Given the description of an element on the screen output the (x, y) to click on. 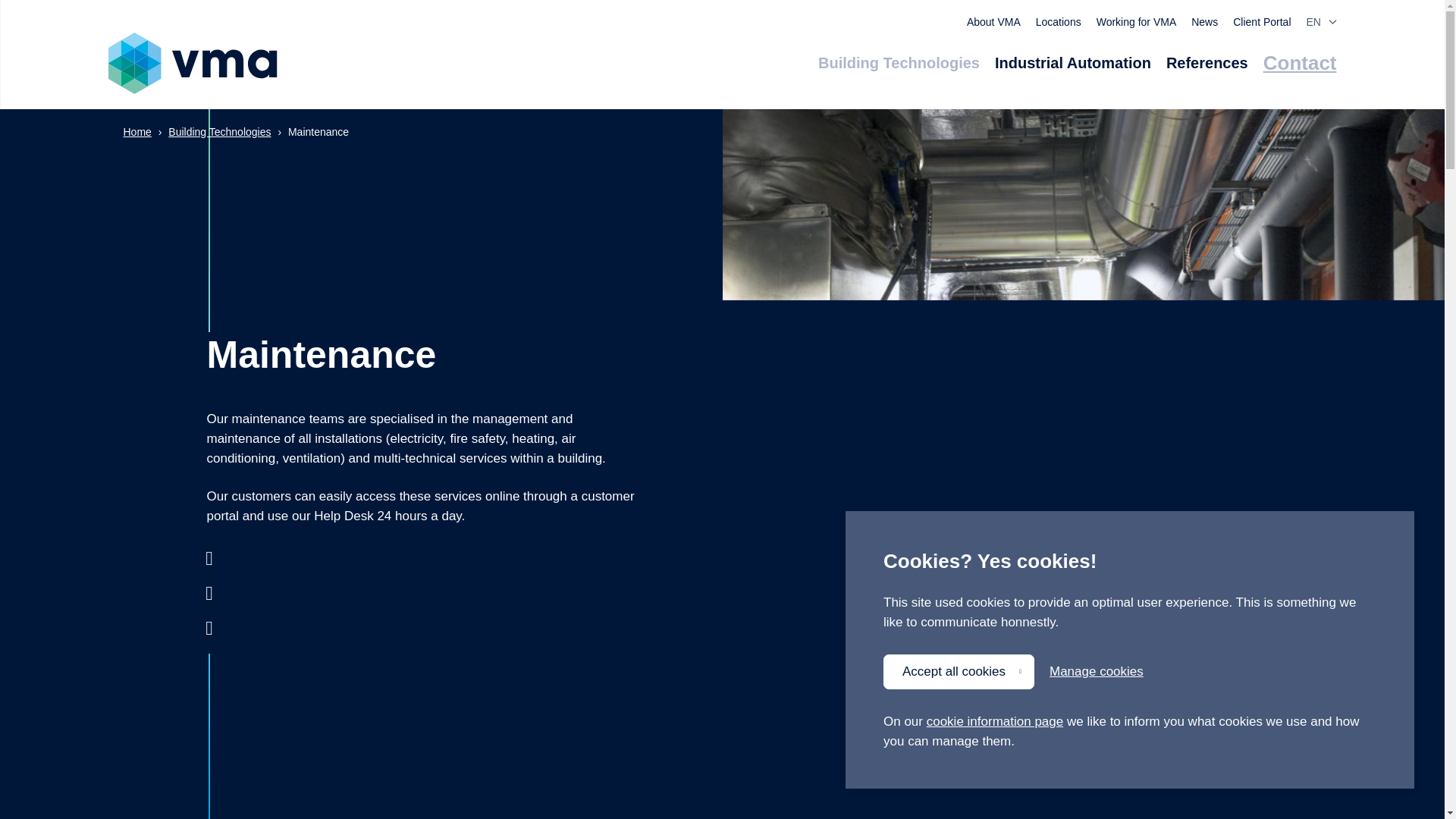
Home (136, 132)
News (1204, 21)
Contact (1299, 62)
Working for VMA (1136, 21)
Locations (1058, 21)
References (1206, 62)
Building Technologies (219, 132)
Client Portal (1261, 21)
Building Technologies (898, 62)
About VMA (993, 21)
Industrial Automation (1072, 62)
